Given the description of an element on the screen output the (x, y) to click on. 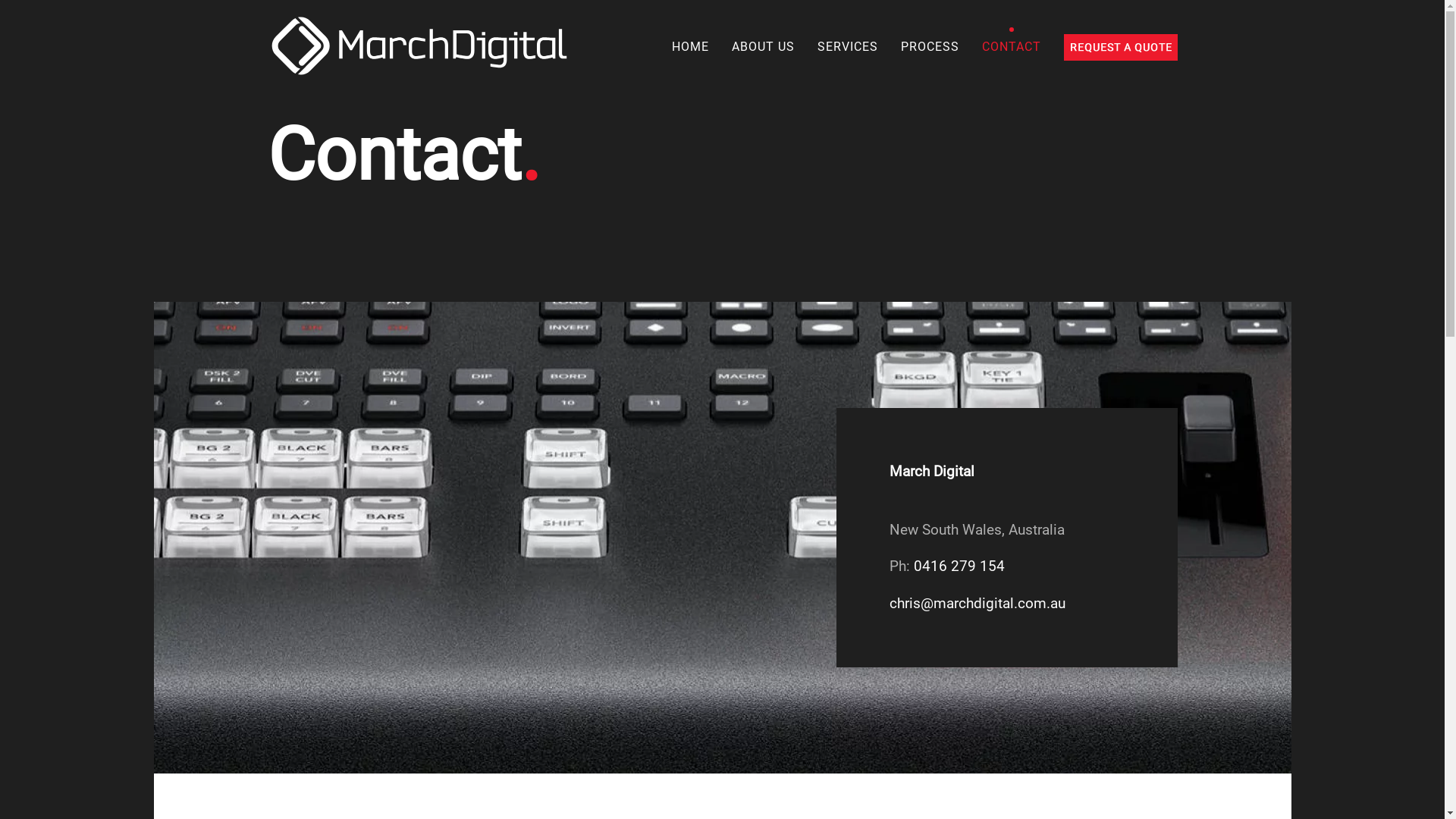
PROCESS Element type: text (928, 46)
SERVICES Element type: text (846, 46)
HOME Element type: text (689, 46)
0416 279 154 Element type: text (958, 565)
chris@marchdigital.com.au Element type: text (976, 602)
ABOUT US Element type: text (763, 46)
CONTACT Element type: text (1011, 46)
